Given the description of an element on the screen output the (x, y) to click on. 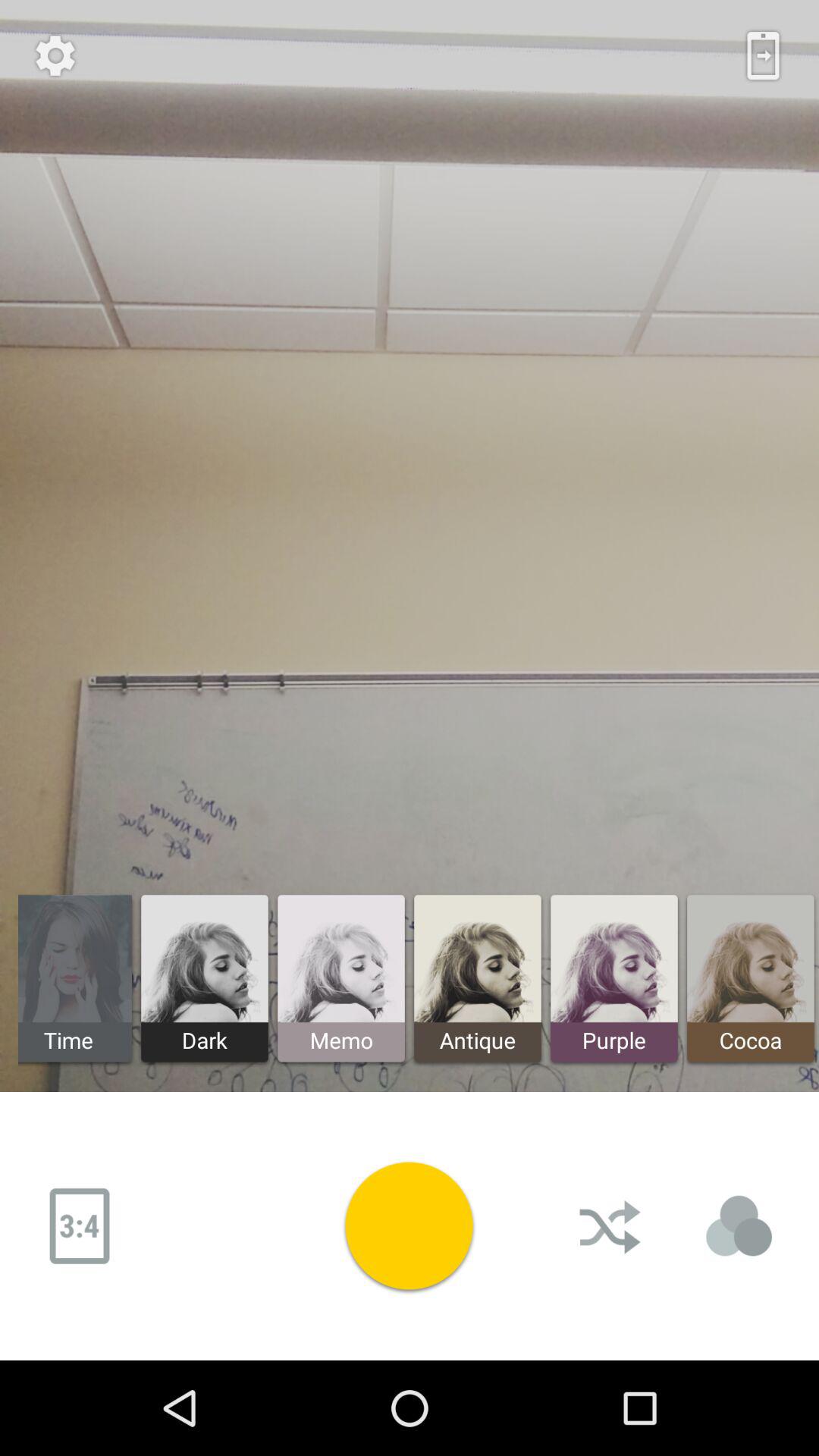
toggle colors (739, 1226)
